Given the description of an element on the screen output the (x, y) to click on. 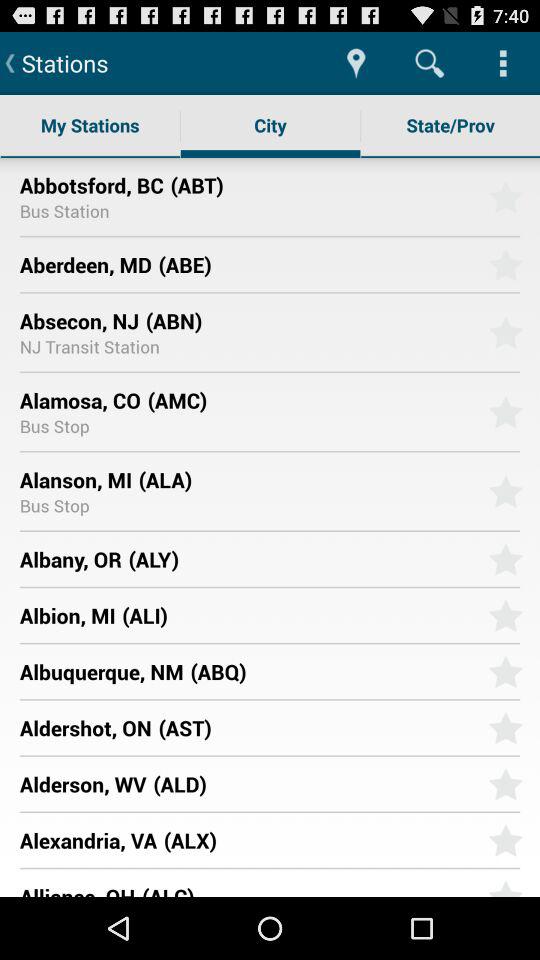
press the (abq) (332, 671)
